Given the description of an element on the screen output the (x, y) to click on. 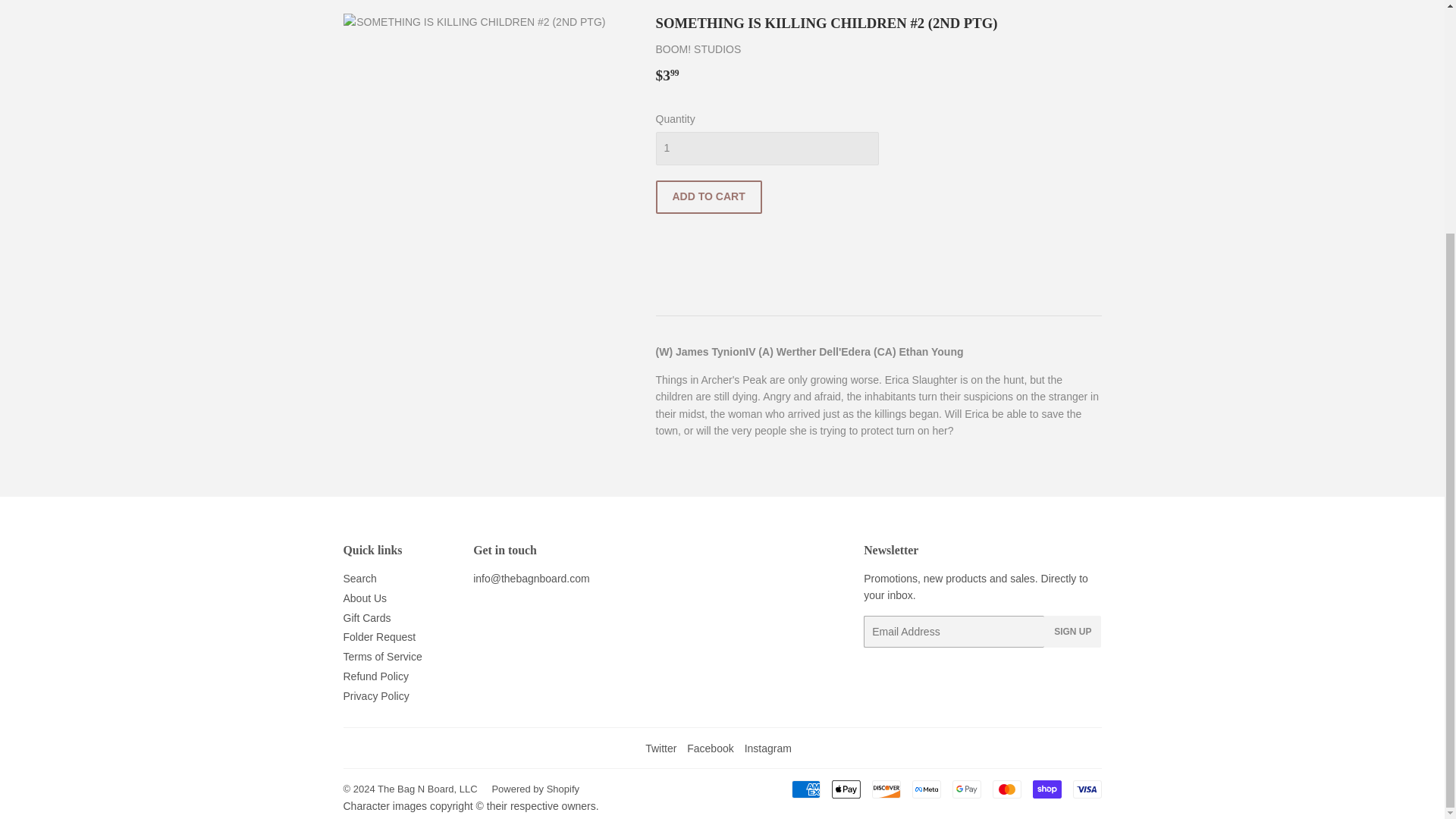
The Bag N Board on Twitter (661, 748)
Google Pay (966, 789)
Mastercard (1005, 789)
Discover (886, 789)
The Bag N Board on Facebook (710, 748)
American Express (806, 789)
Meta Pay (925, 789)
Apple Pay (845, 789)
The Bag N Board on Instagram (768, 748)
1 (766, 148)
Shop Pay (1046, 789)
Visa (1085, 789)
